Given the description of an element on the screen output the (x, y) to click on. 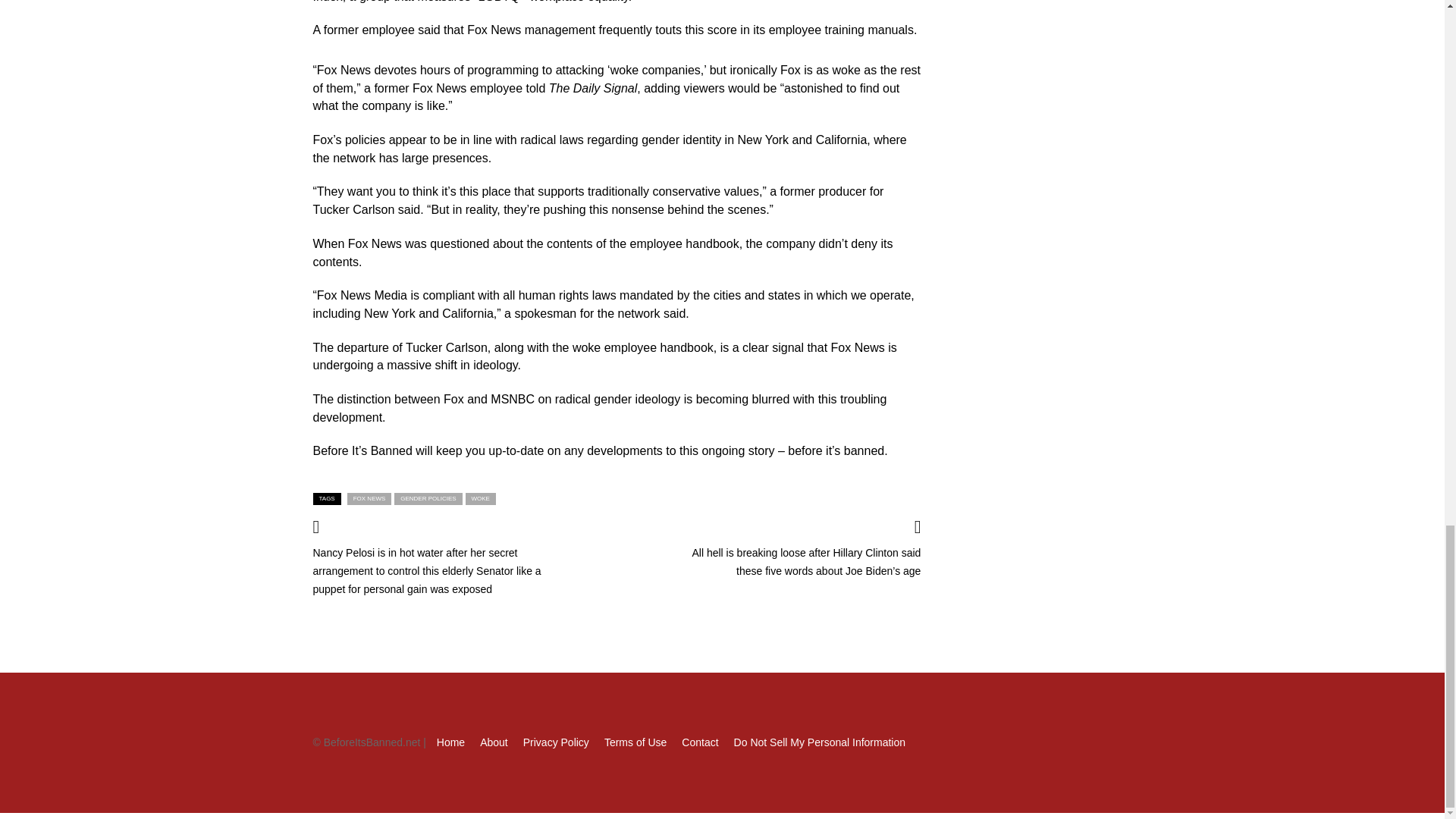
Home (450, 741)
WOKE (480, 499)
About (494, 741)
Privacy Policy (555, 741)
Contact (699, 741)
FOX NEWS (369, 499)
Do Not Sell My Personal Information (819, 741)
Terms of Use (635, 741)
GENDER POLICIES (427, 499)
